Given the description of an element on the screen output the (x, y) to click on. 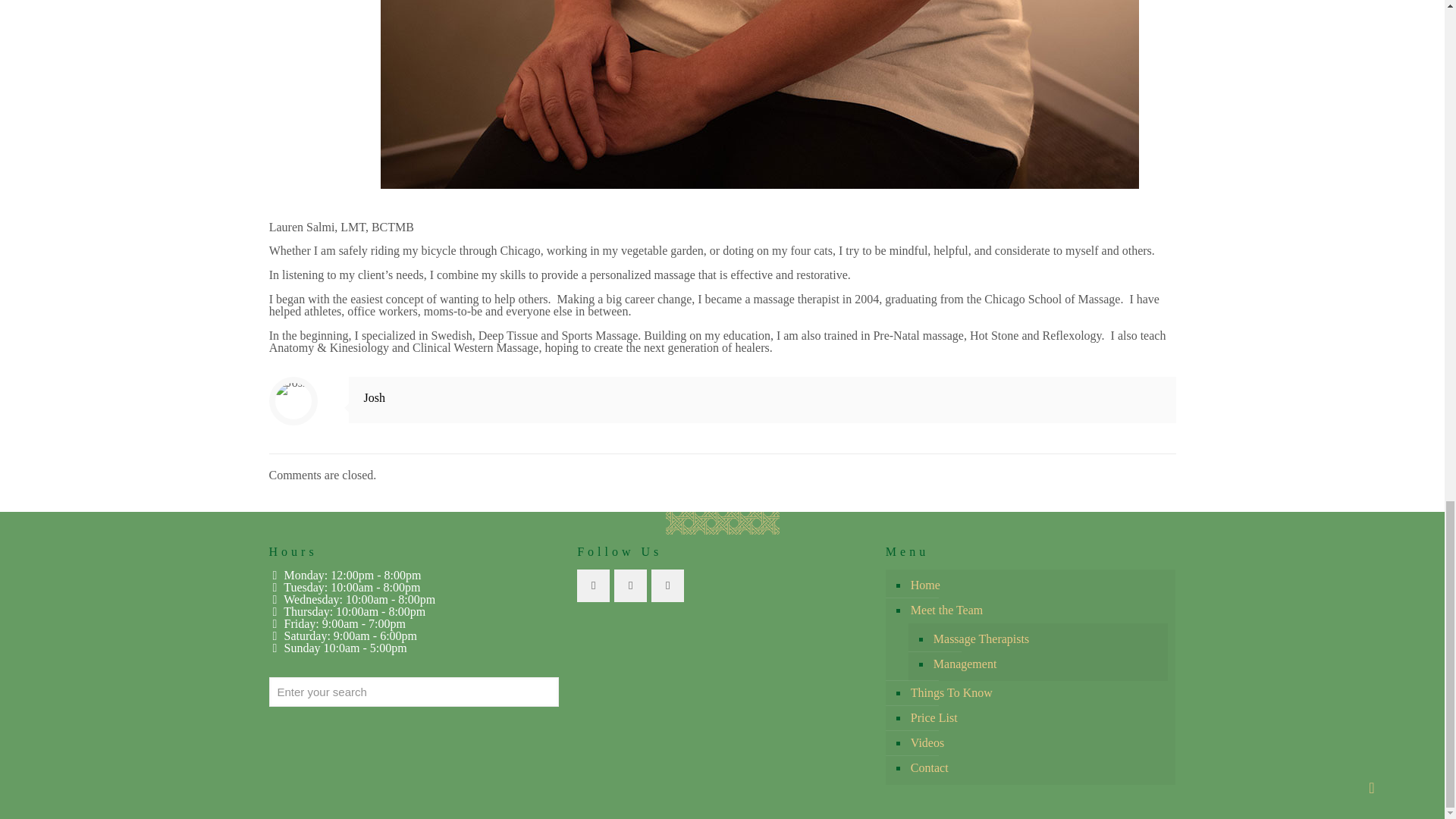
Home (1038, 585)
Videos (1038, 743)
Massage Therapists (1045, 639)
Management (1045, 664)
Meet the Team (1038, 610)
Josh (374, 397)
Things To Know (1038, 692)
Price List (1038, 718)
